Given the description of an element on the screen output the (x, y) to click on. 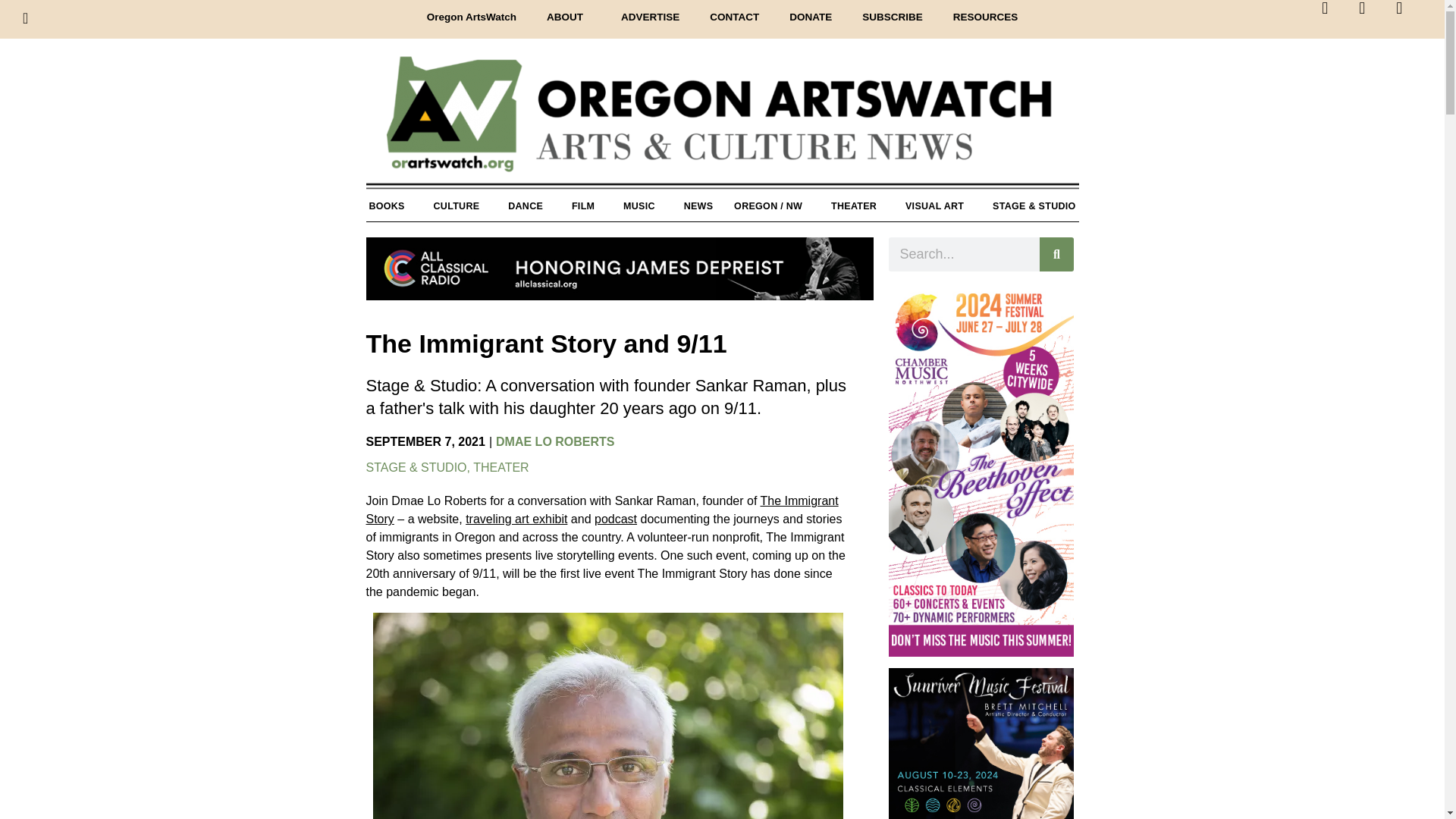
DONATE (810, 17)
Oregon ArtsWatch (471, 17)
Oregon ArtsWatch (721, 122)
SUBSCRIBE (892, 17)
ABOUT (568, 17)
CONTACT (734, 17)
RESOURCES (985, 17)
ADVERTISE (649, 17)
